Given the description of an element on the screen output the (x, y) to click on. 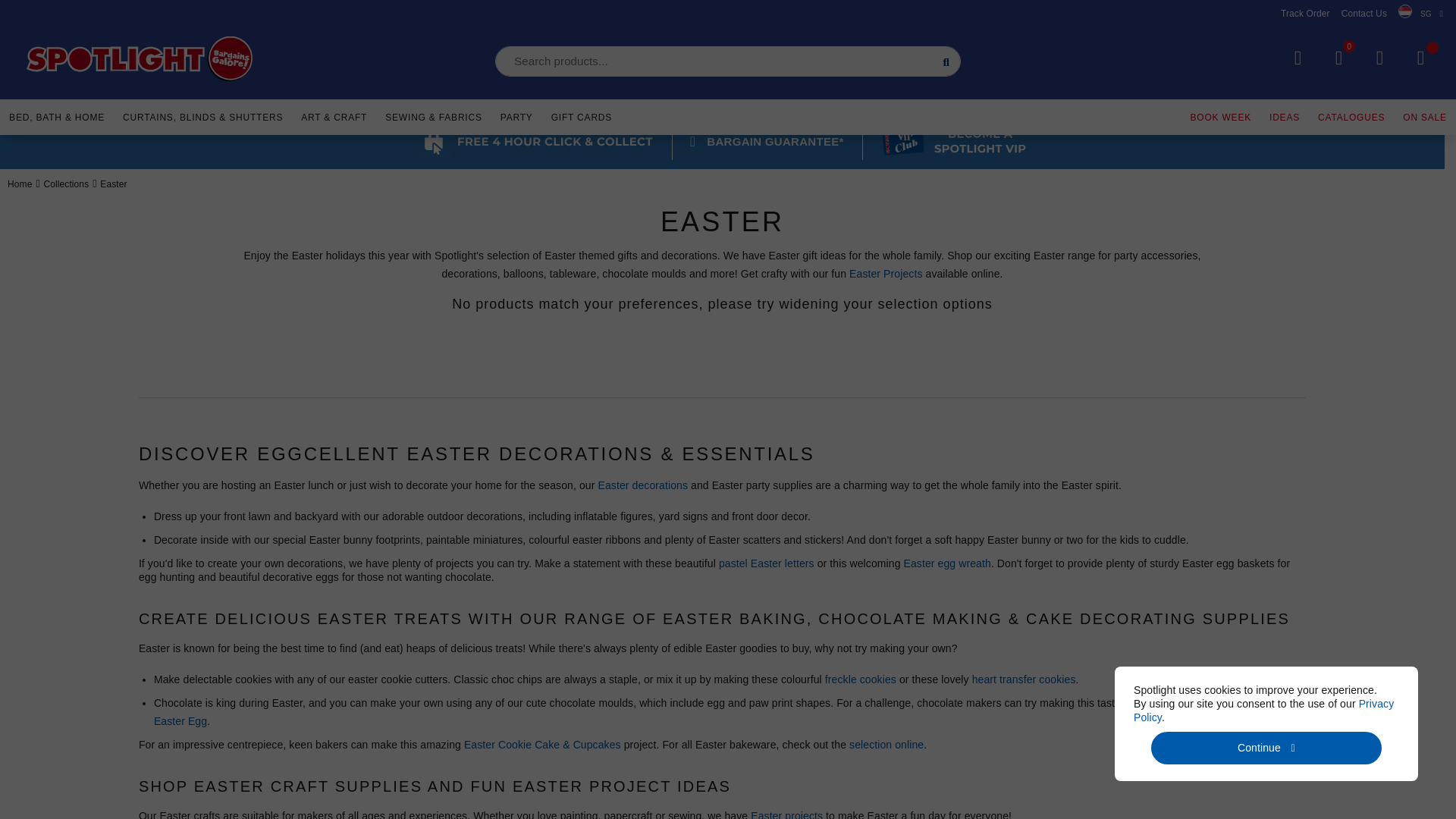
Party (516, 115)
Track Order (1305, 13)
0 (1337, 57)
Contact Us (1363, 13)
Contact Us (1363, 13)
Track Order (1305, 13)
Spotlight (139, 58)
BOOK WEEK (1220, 115)
SG (1419, 13)
Search for a product, brand or project (727, 60)
Ideas (1284, 115)
Gift Cards (581, 115)
